Given the description of an element on the screen output the (x, y) to click on. 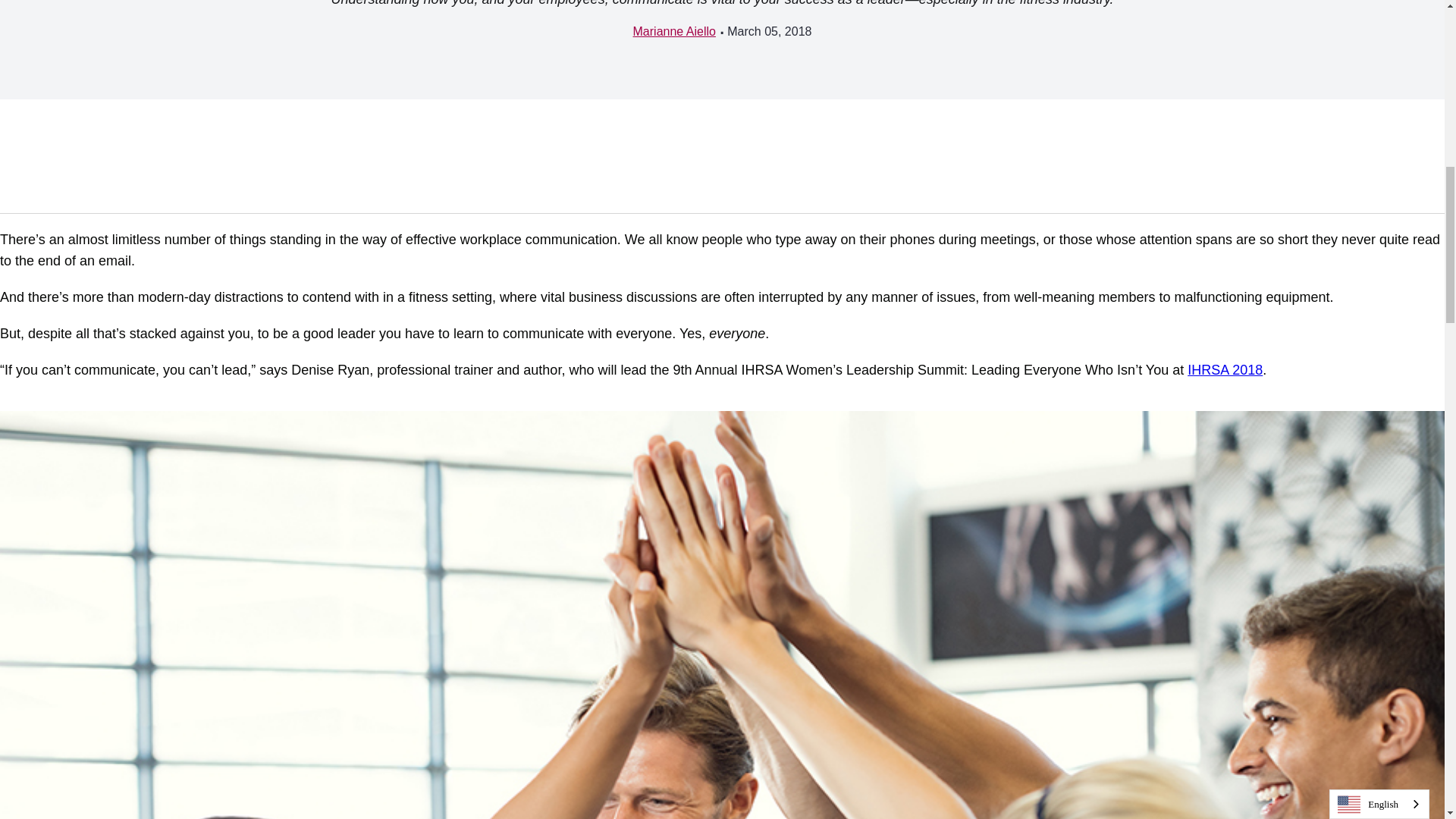
3rd party ad content (367, 156)
